Given the description of an element on the screen output the (x, y) to click on. 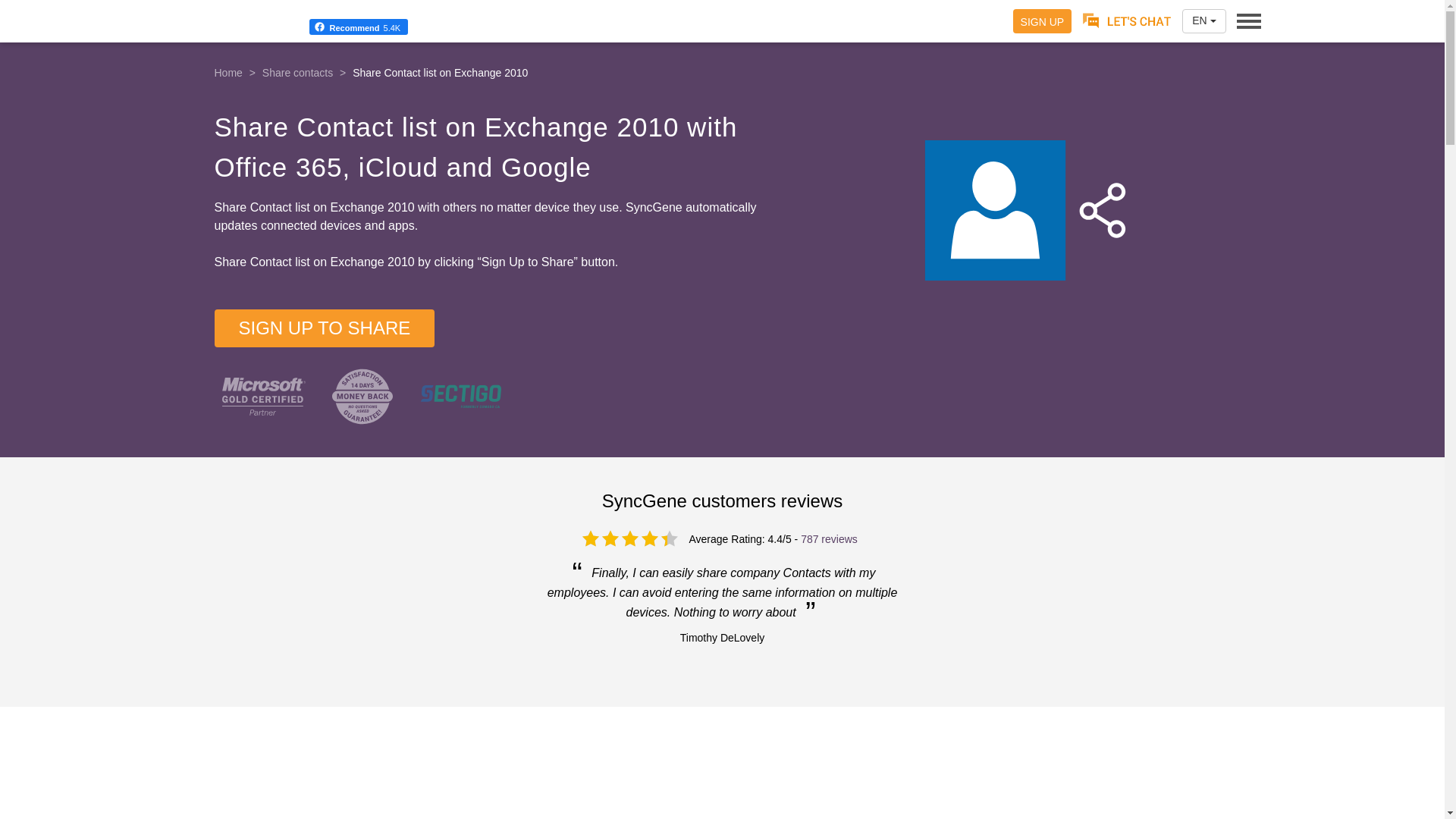
Share Contact list on Exchange 2010 (439, 72)
SIGN UP (1042, 21)
Microsoft Certified partner (262, 395)
Share Contact list on Exchange 2010 (439, 72)
Share Contact list on Exchange 2010 (1025, 209)
787 reviews (828, 539)
Share contacts (297, 72)
EN (1203, 21)
Sign Up to Share (528, 261)
Recommend5.4K (297, 21)
Money Back Satisfaction guarantee (361, 395)
Sectigo (460, 395)
Home (227, 72)
SIGN UP TO SHARE (323, 328)
SyncGene (722, 800)
